Given the description of an element on the screen output the (x, y) to click on. 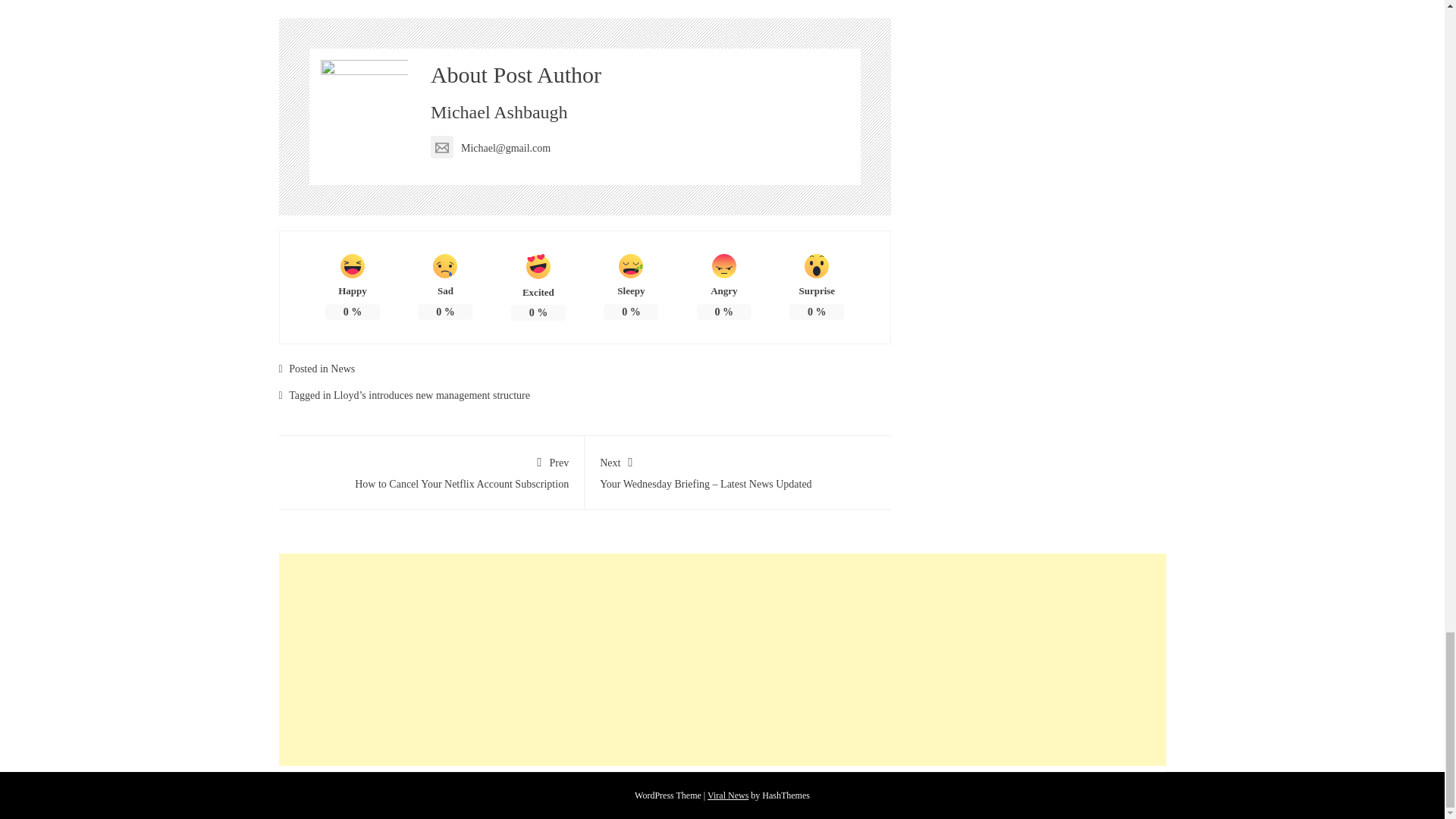
Download Viral News (727, 795)
Facebook (333, 1)
Twitter (435, 1)
News (342, 368)
Michael Ashbaugh (498, 112)
Pinterest (536, 1)
LinkedIn (633, 1)
